Given the description of an element on the screen output the (x, y) to click on. 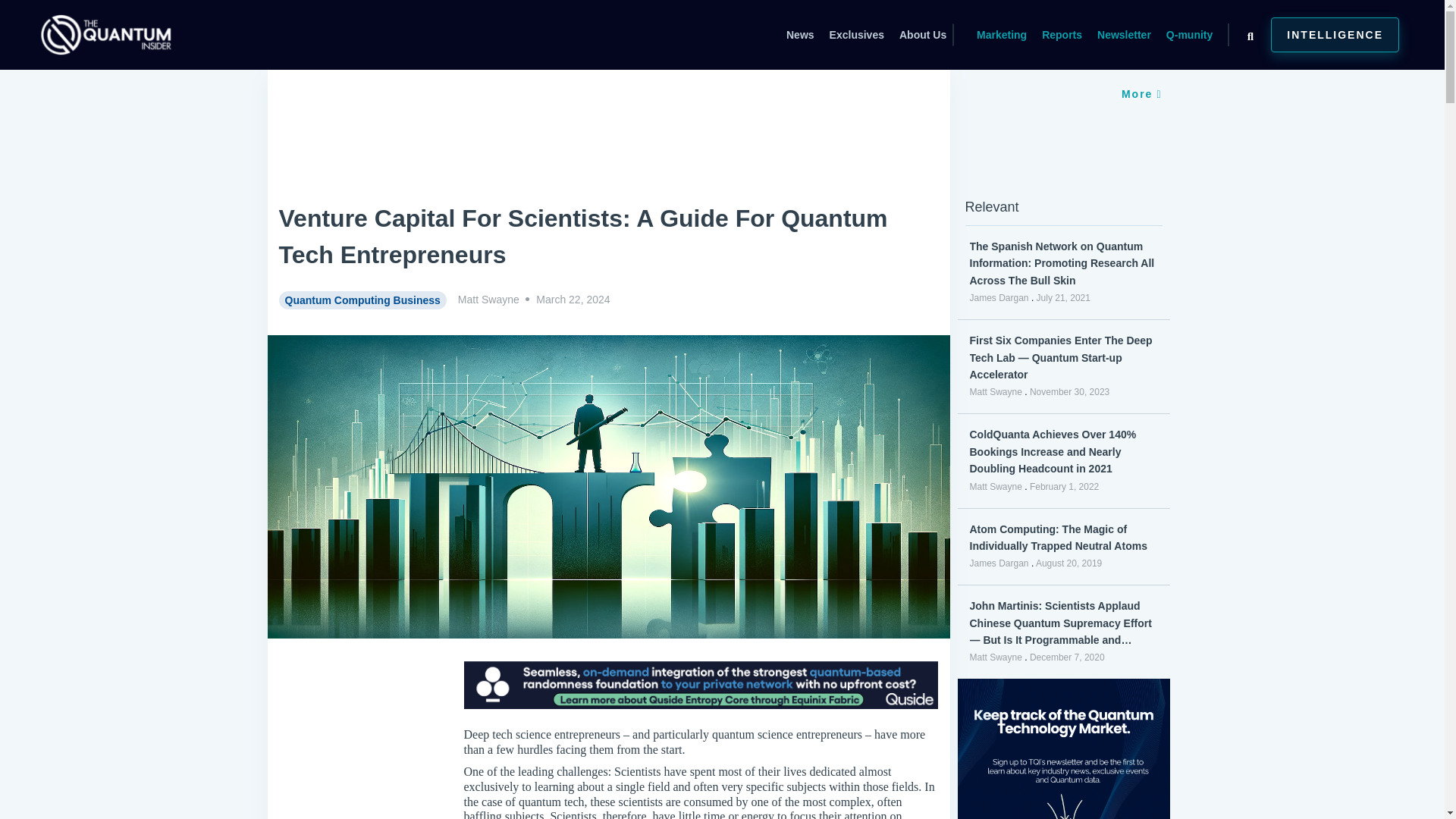
INTELLIGENCE (1335, 34)
About Us (922, 34)
Q-munity (1189, 34)
Newsletter (1124, 34)
Reports (1061, 34)
Marketing (1001, 34)
Exclusives (855, 34)
